Given the description of an element on the screen output the (x, y) to click on. 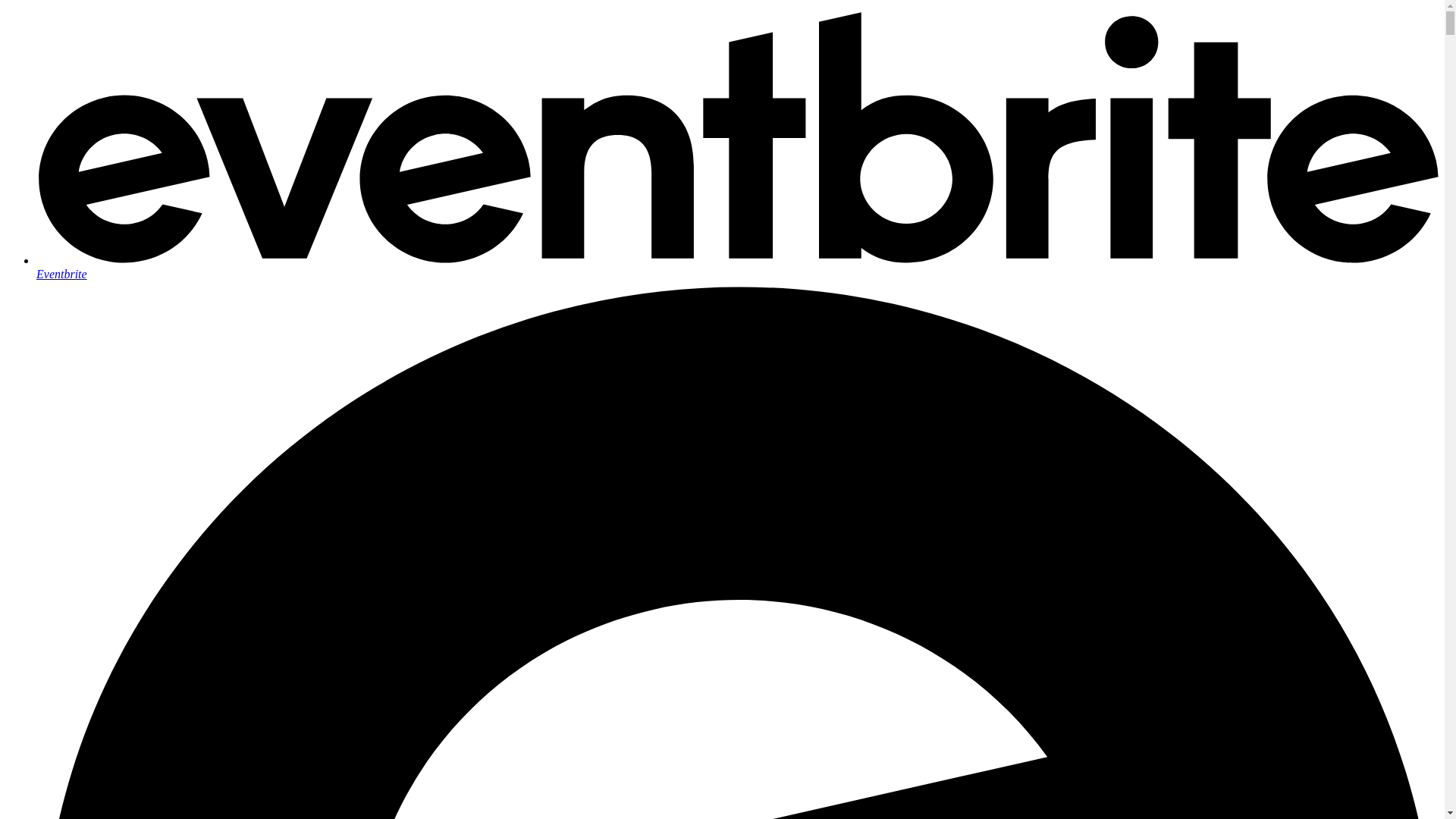
Eventbrite Element type: text (737, 267)
